Given the description of an element on the screen output the (x, y) to click on. 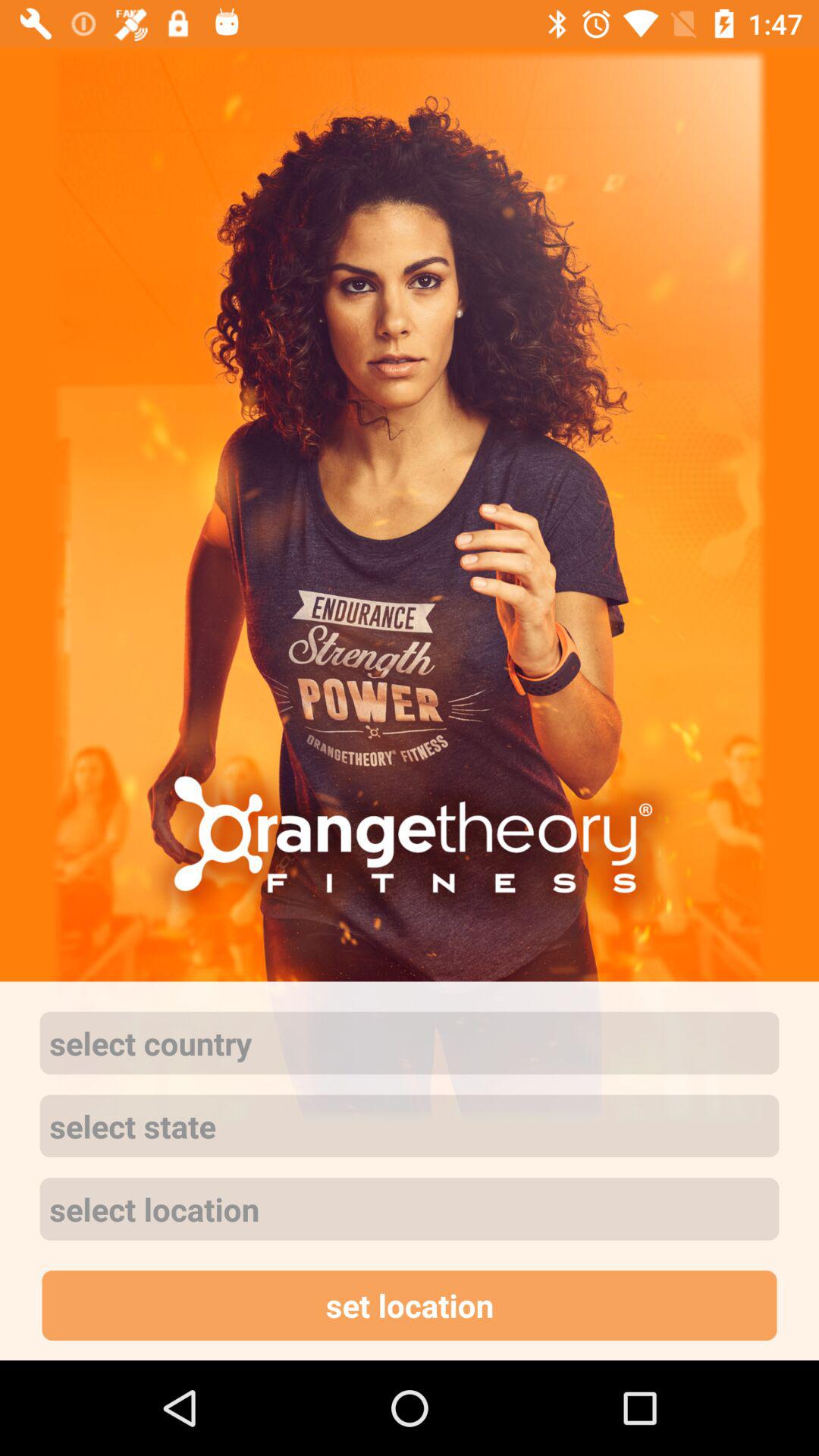
flip until set location item (409, 1305)
